Given the description of an element on the screen output the (x, y) to click on. 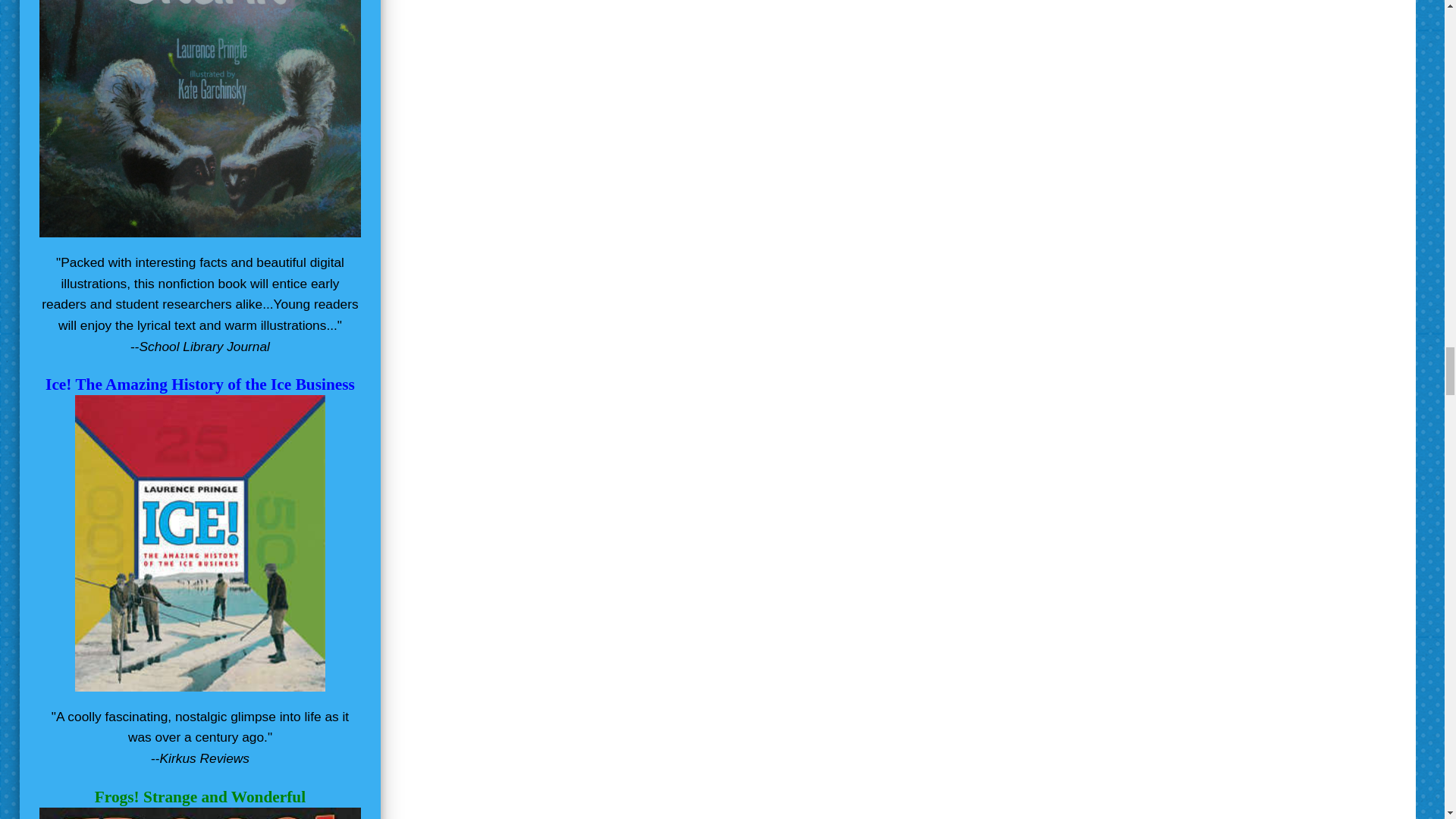
Ice! The Amazing History of the Ice Business (200, 384)
Frogs! Strange and Wonderful (199, 796)
